Given the description of an element on the screen output the (x, y) to click on. 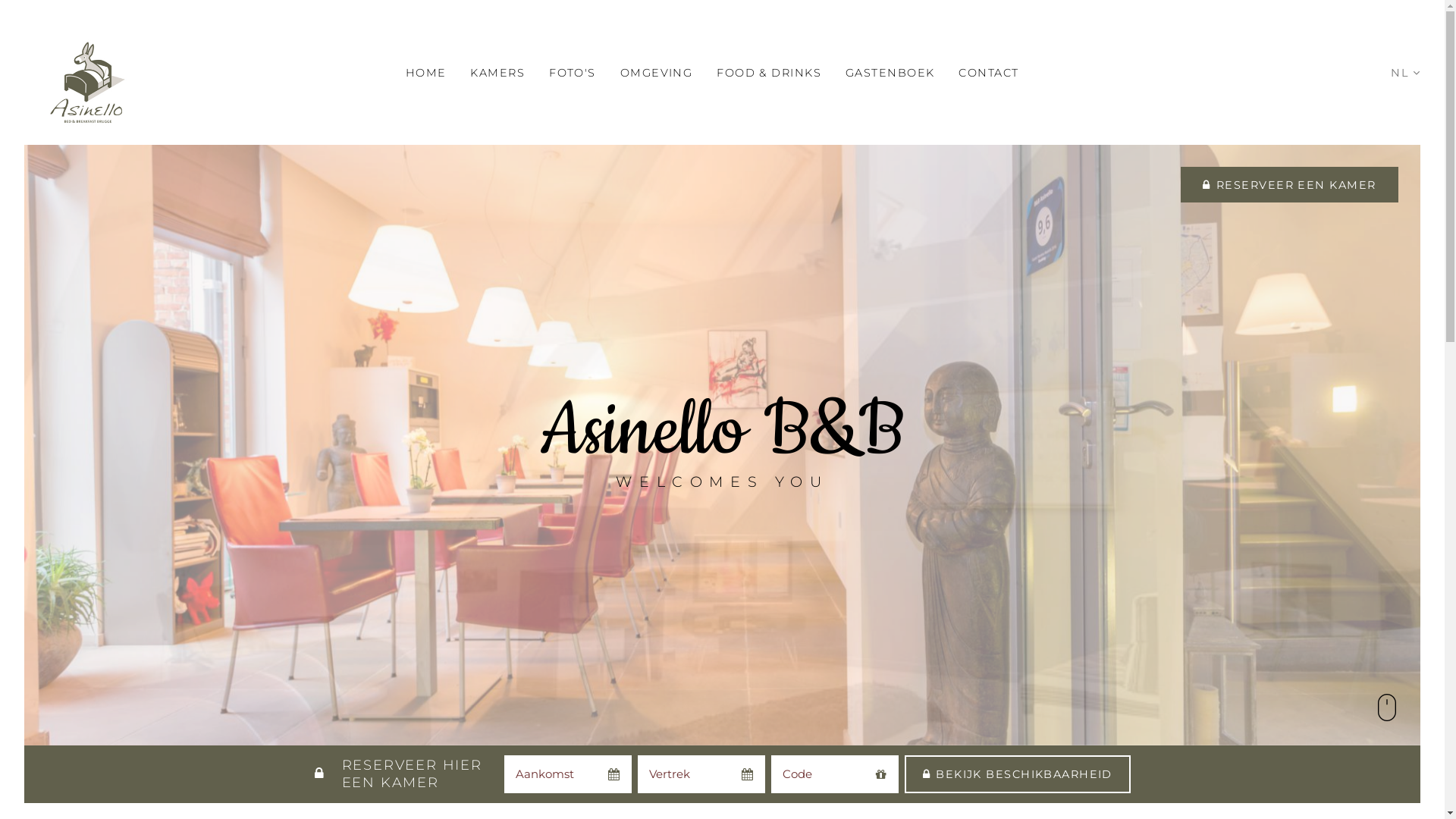
BEKIJK BESCHIKBAARHEID Element type: text (1017, 774)
GASTENBOEK Element type: text (889, 72)
OMGEVING Element type: text (656, 72)
FOTO'S Element type: text (572, 72)
RESERVEER EEN KAMER Element type: text (1289, 184)
NL Element type: text (1405, 72)
HOME Element type: text (425, 72)
FOOD & DRINKS Element type: text (768, 72)
KAMERS Element type: text (497, 72)
CONTACT Element type: text (988, 72)
